Given the description of an element on the screen output the (x, y) to click on. 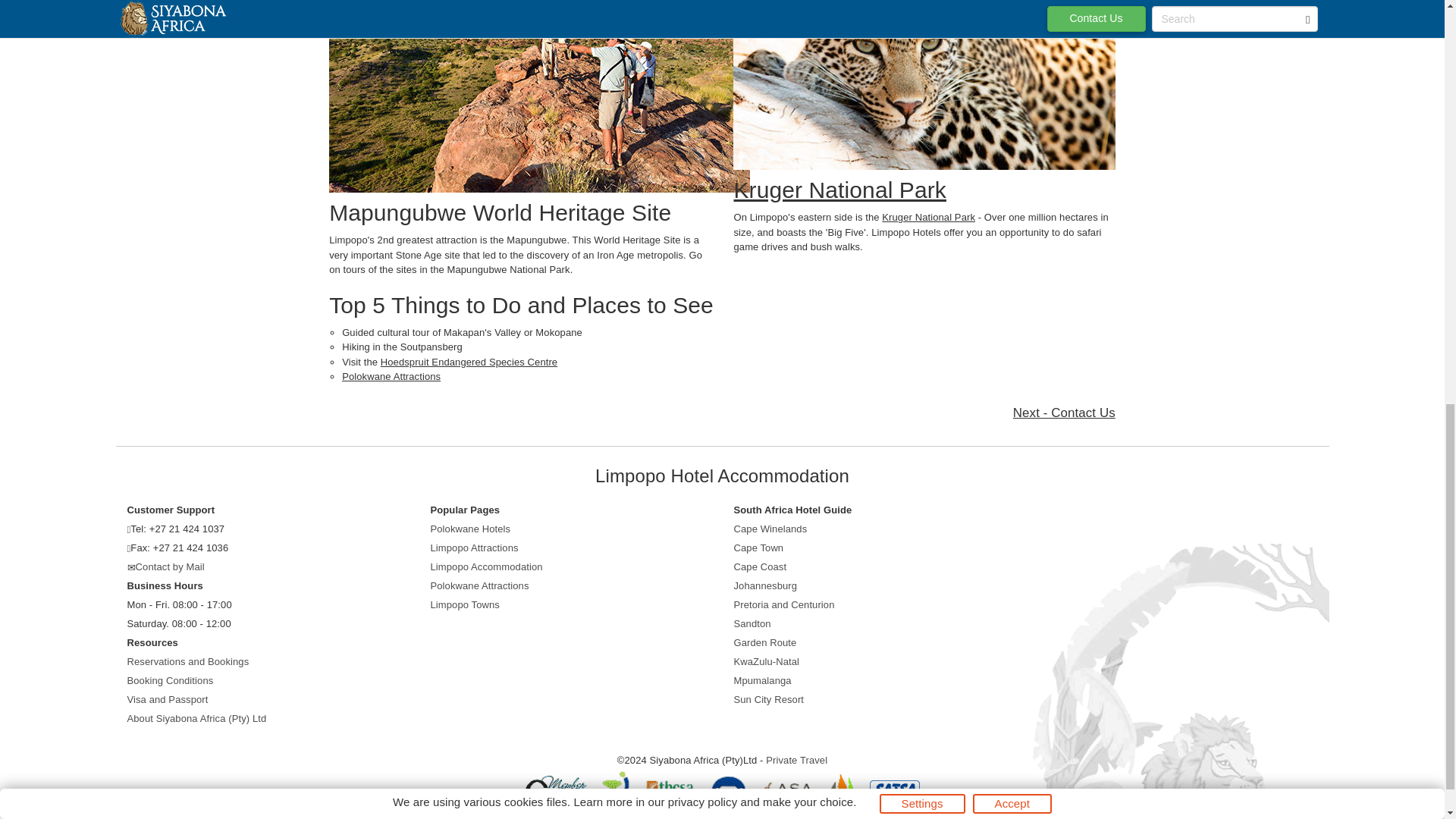
Johannesburg (765, 585)
Booking Conditions (171, 680)
Garden Route (764, 642)
Limpopo Accommodation (486, 566)
Next - Contact Us (1064, 412)
Kruger National Park (928, 216)
Polokwane Attractions (391, 376)
Polokwane Hotels (470, 528)
Contact by Mail (170, 566)
Visa and Passport (168, 699)
